Given the description of an element on the screen output the (x, y) to click on. 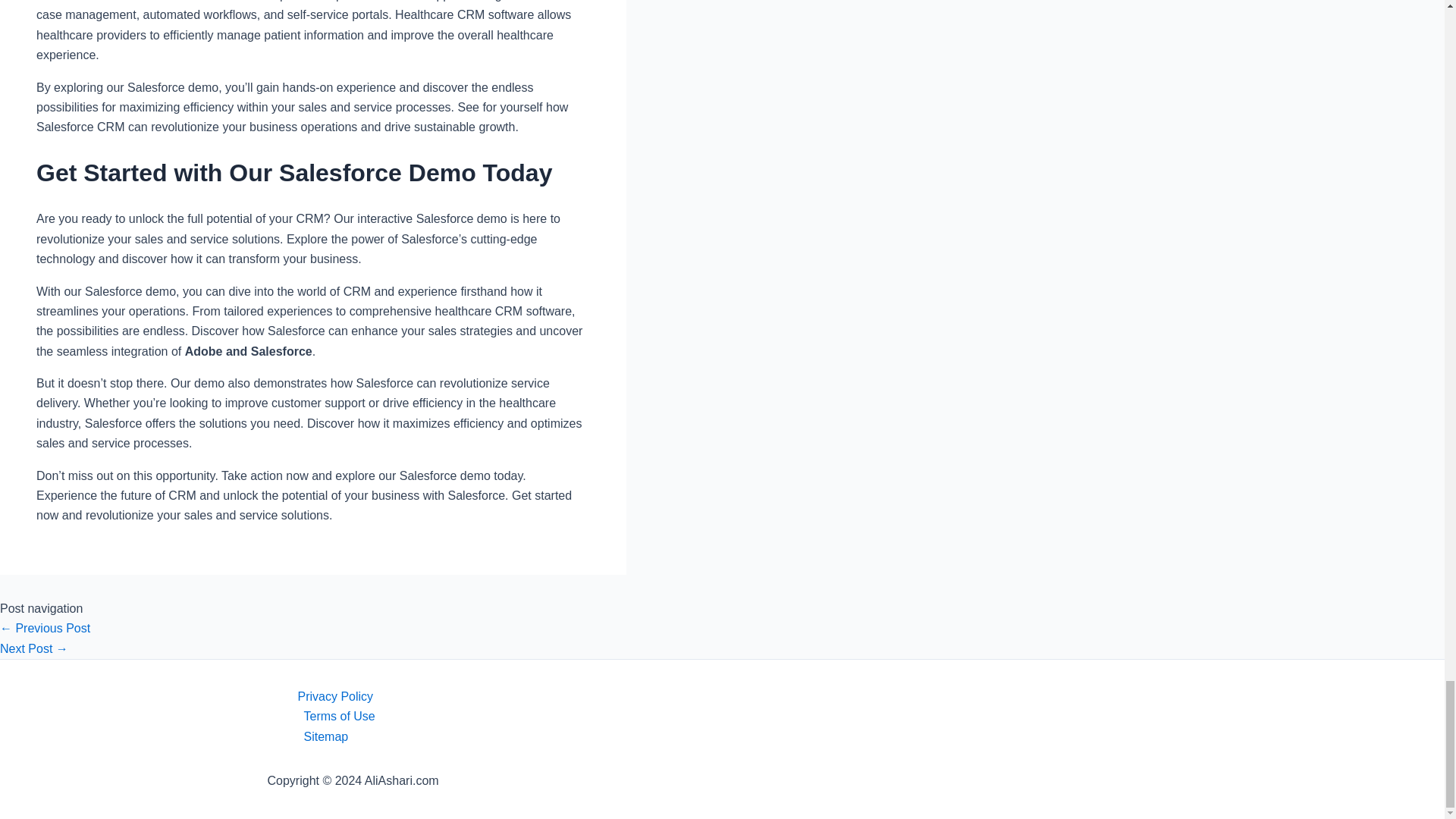
Sitemap (736, 736)
Optimise CX with Salesforce Feedback Management (45, 627)
Terms of Use (736, 716)
Top Best Healthcare CRM Software Rankings 2023 (34, 648)
Privacy Policy (736, 696)
